Given the description of an element on the screen output the (x, y) to click on. 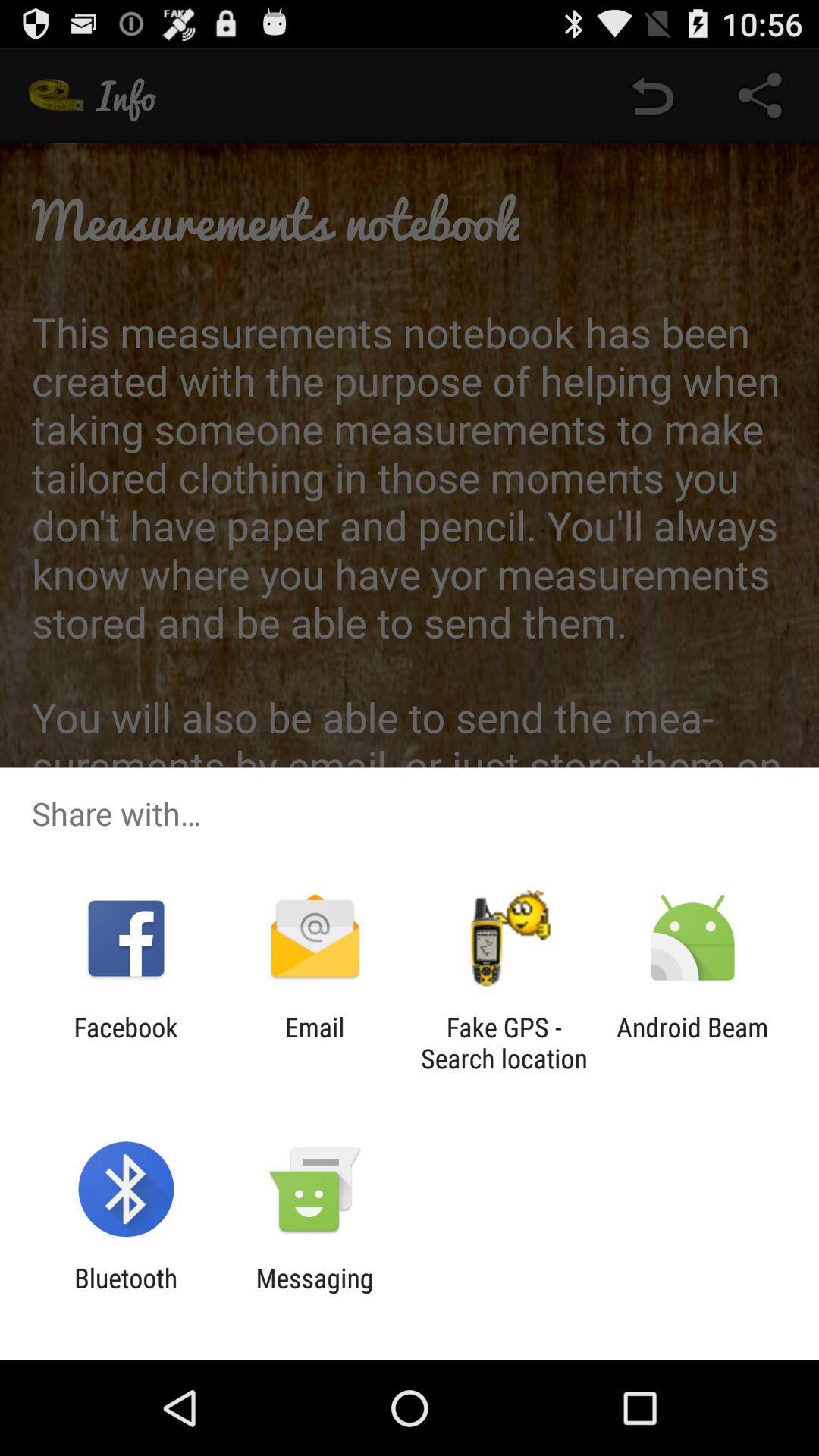
press icon to the left of the android beam (503, 1042)
